Given the description of an element on the screen output the (x, y) to click on. 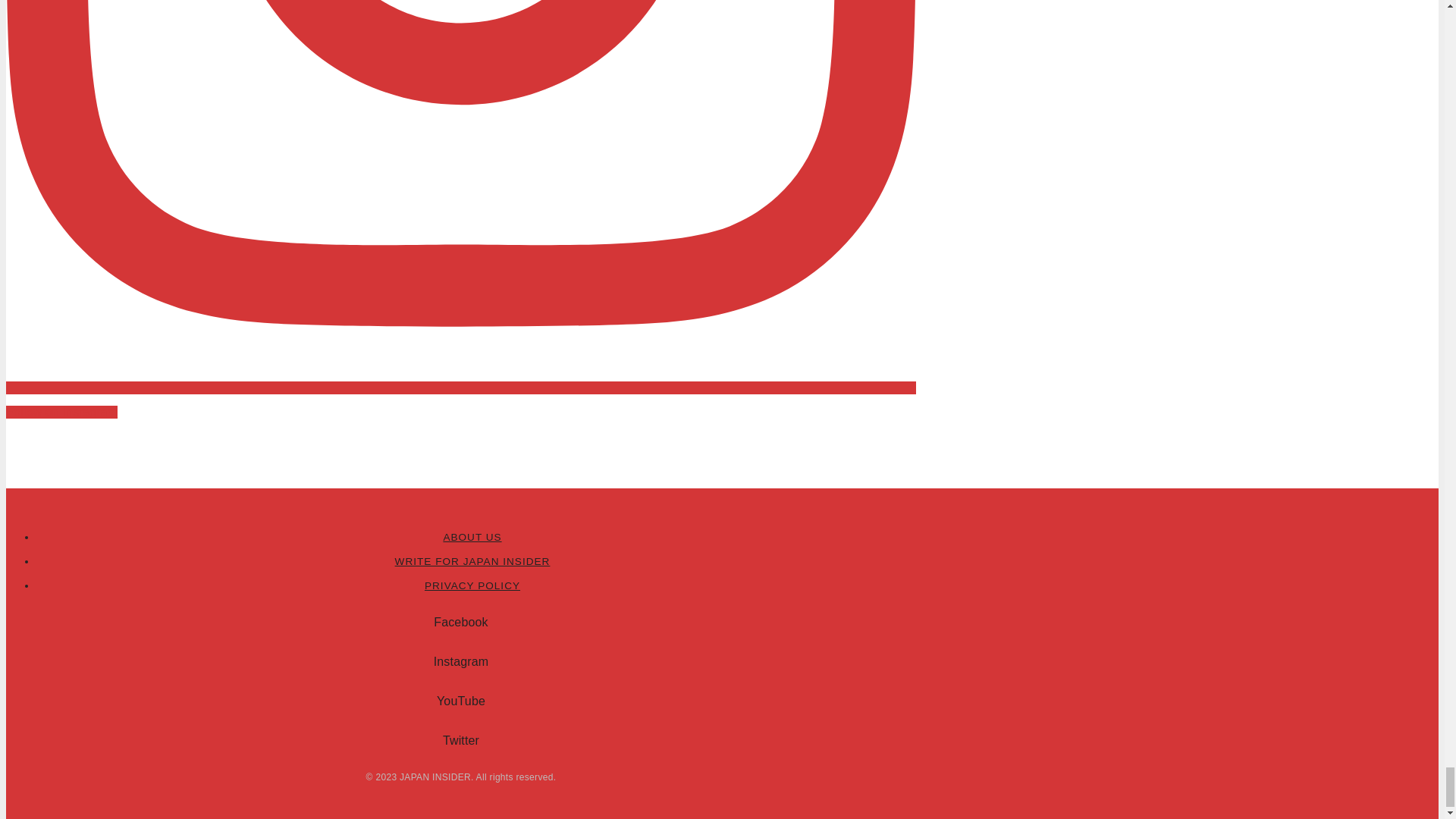
Follow on Instagram (460, 399)
WRITE FOR JAPAN INSIDER (472, 561)
ABOUT US (471, 536)
